Given the description of an element on the screen output the (x, y) to click on. 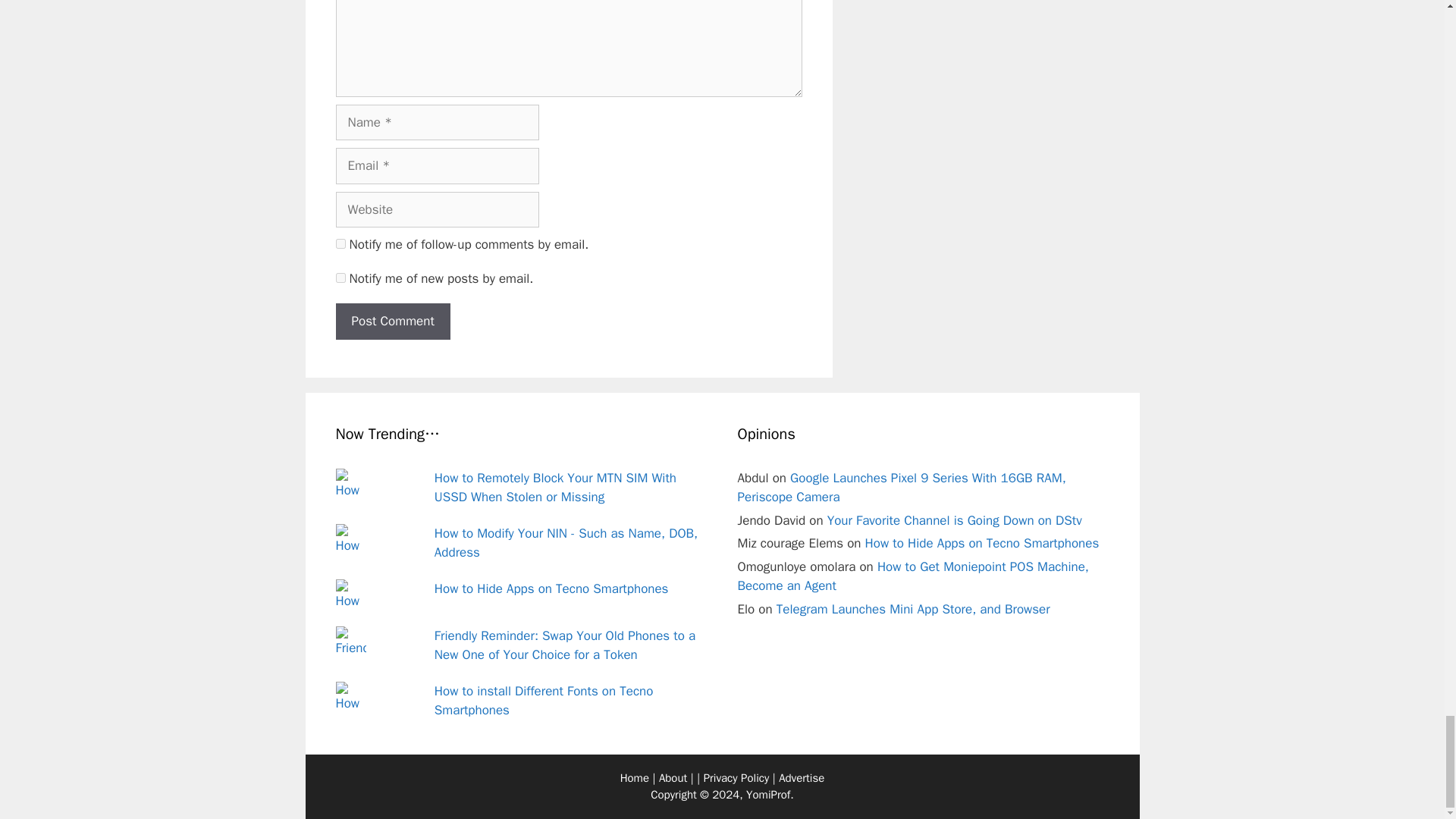
subscribe (339, 277)
Post Comment (391, 321)
subscribe (339, 243)
